Given the description of an element on the screen output the (x, y) to click on. 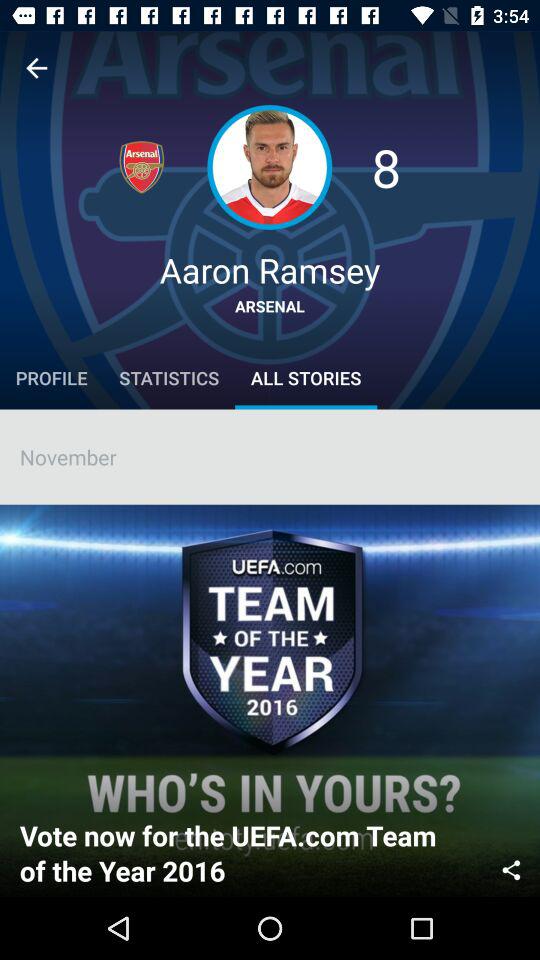
go to back (36, 68)
